Given the description of an element on the screen output the (x, y) to click on. 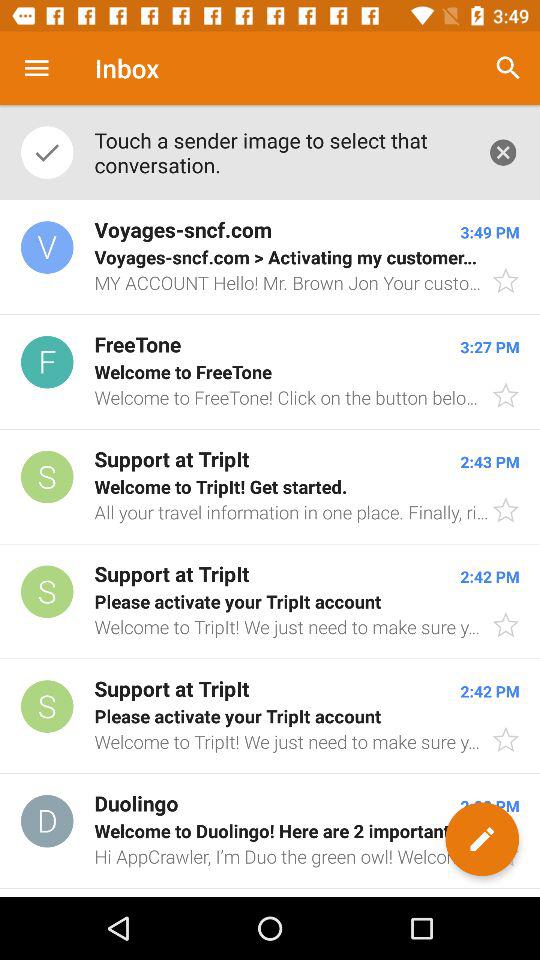
press the icon next to touch a sender (508, 67)
